Given the description of an element on the screen output the (x, y) to click on. 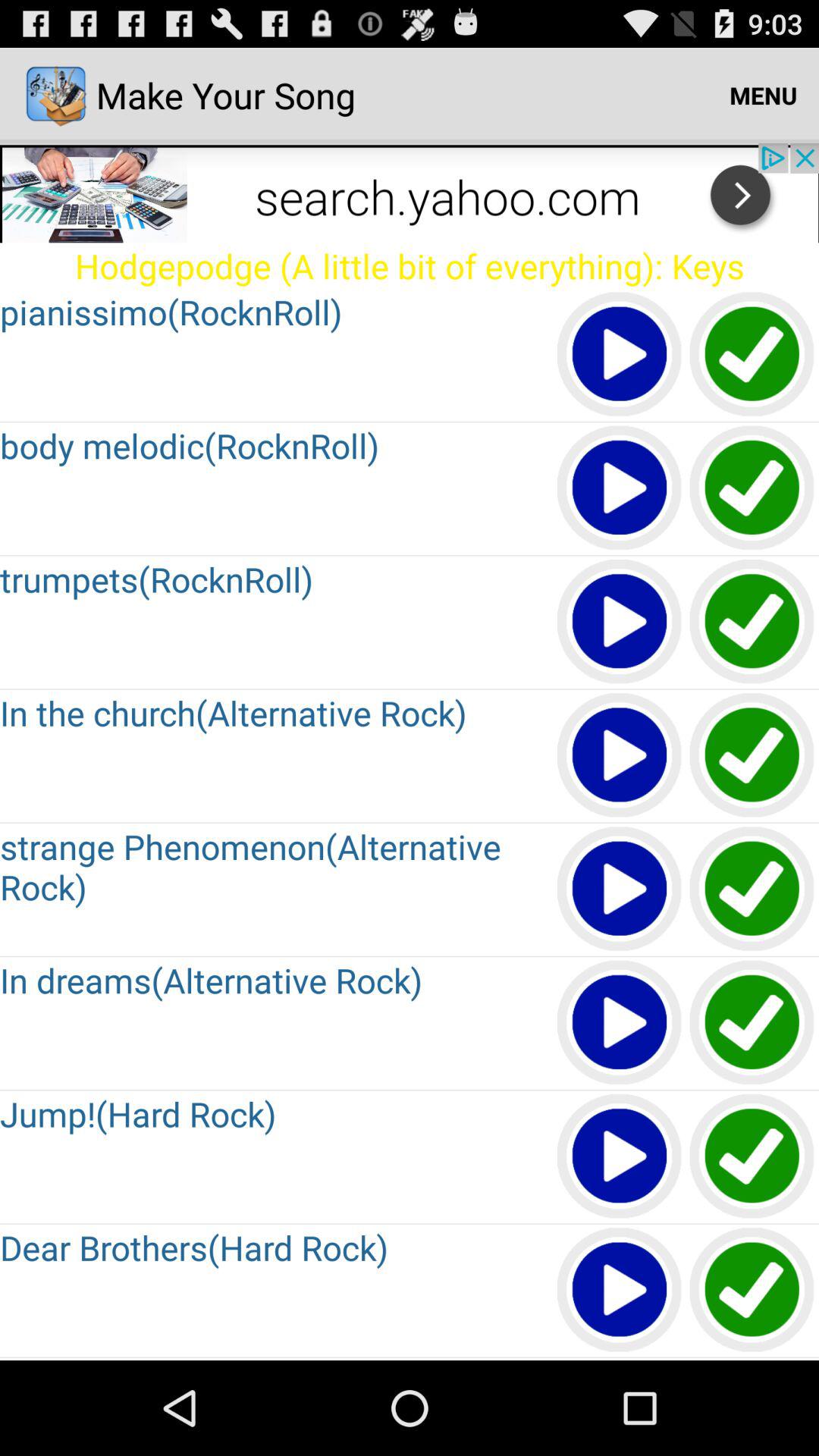
play page (619, 488)
